Given the description of an element on the screen output the (x, y) to click on. 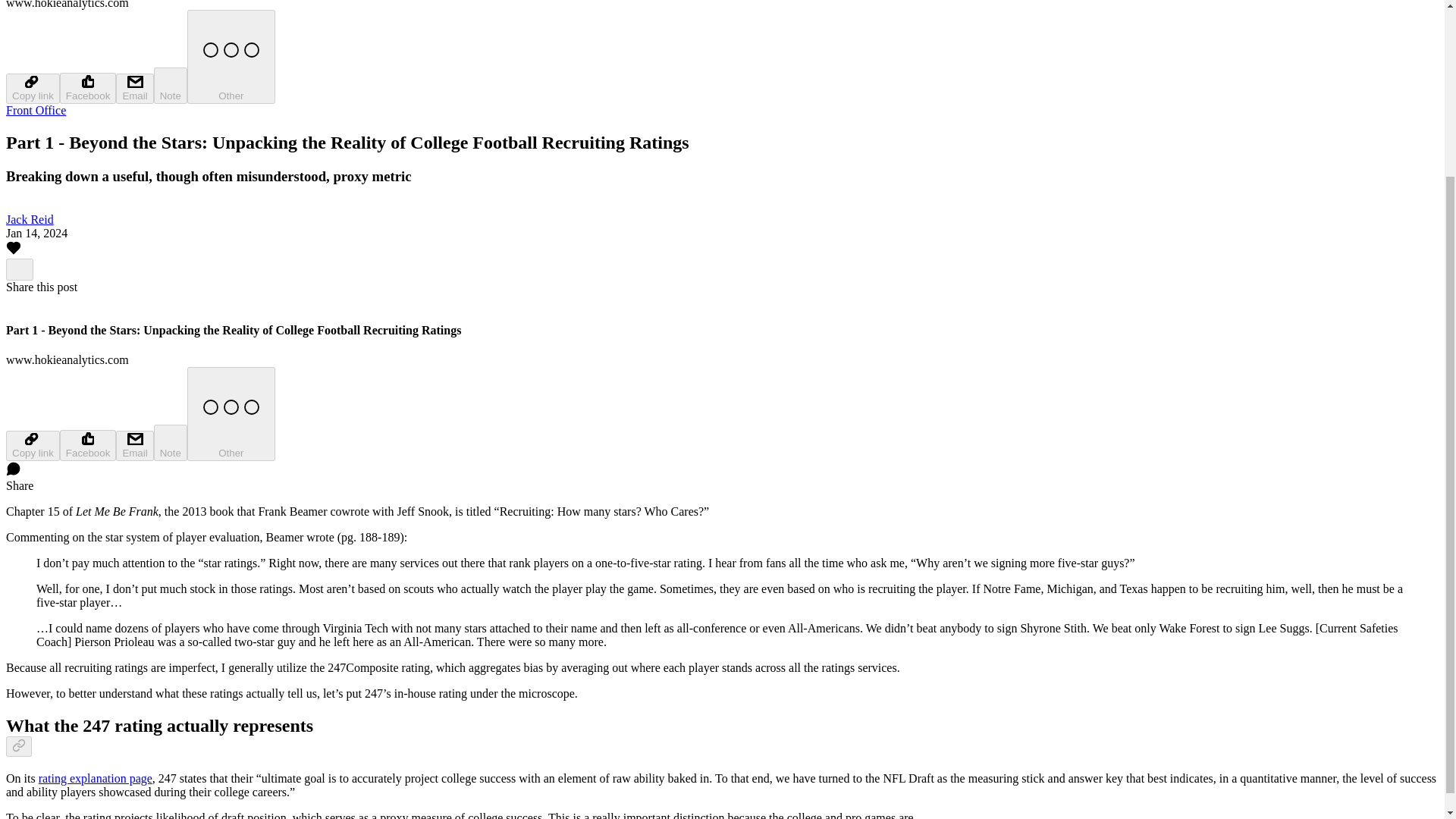
Jack Reid (29, 219)
Front Office (35, 110)
Facebook (87, 445)
Note (170, 443)
Email (134, 445)
Other (231, 56)
Other (231, 413)
rating explanation page (95, 778)
Note (170, 85)
Facebook (87, 88)
Email (134, 88)
Copy link (32, 445)
Copy link (32, 88)
